Given the description of an element on the screen output the (x, y) to click on. 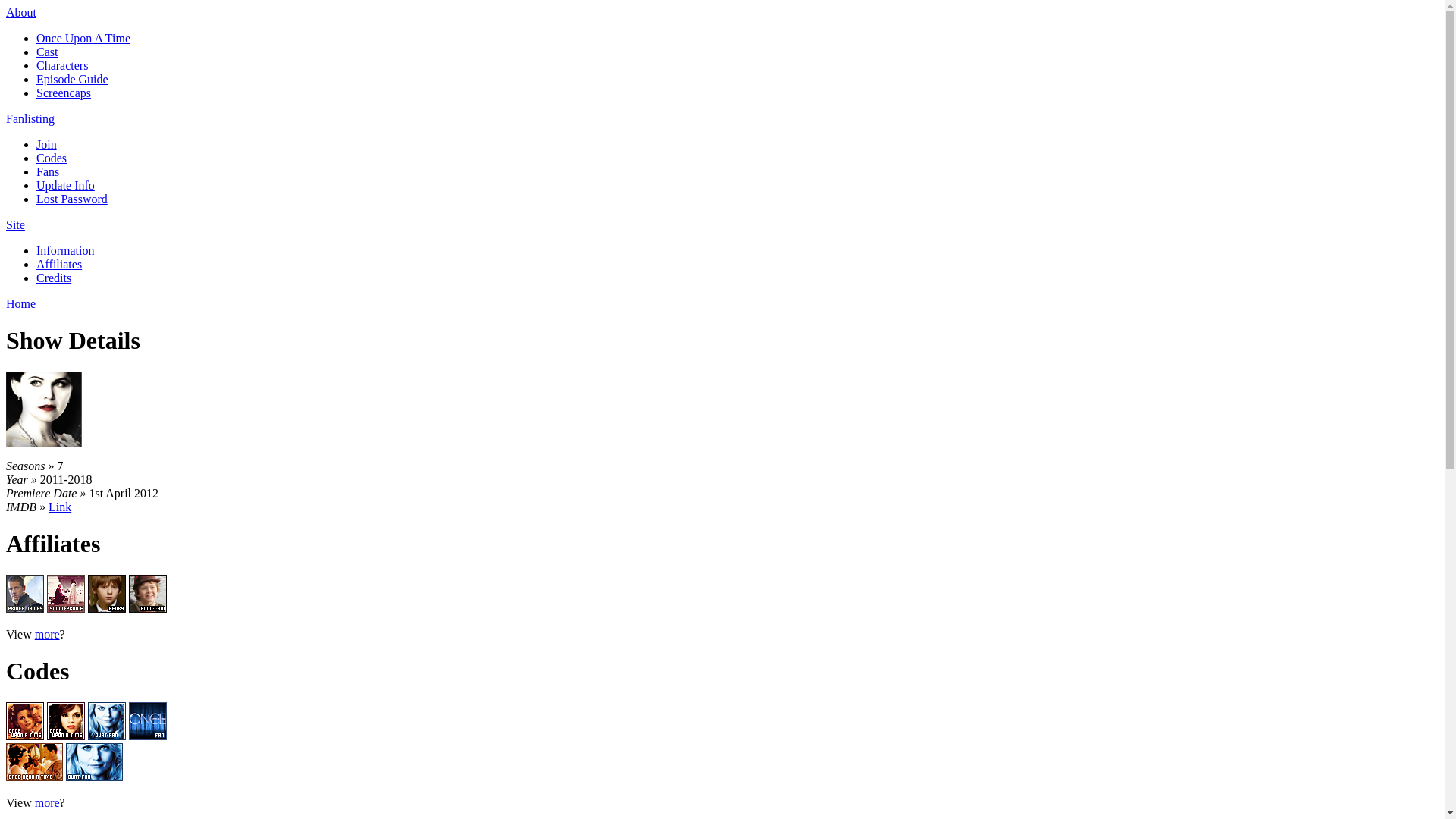
more Element type: text (46, 633)
Information Element type: text (65, 250)
About Element type: text (21, 12)
Cast Element type: text (46, 51)
Site Element type: text (15, 224)
Episode Guide Element type: text (72, 78)
Credits Element type: text (53, 277)
Fans Element type: text (47, 171)
Codes Element type: text (51, 157)
Link Element type: text (59, 506)
Characters Element type: text (61, 65)
Affiliates Element type: text (58, 263)
Screencaps Element type: text (63, 92)
Join Element type: text (46, 144)
Lost Password Element type: text (71, 198)
Once Upon A Time Element type: text (83, 37)
Fanlisting Element type: text (30, 118)
Home Element type: text (20, 303)
Update Info Element type: text (65, 184)
more Element type: text (46, 802)
